Given the description of an element on the screen output the (x, y) to click on. 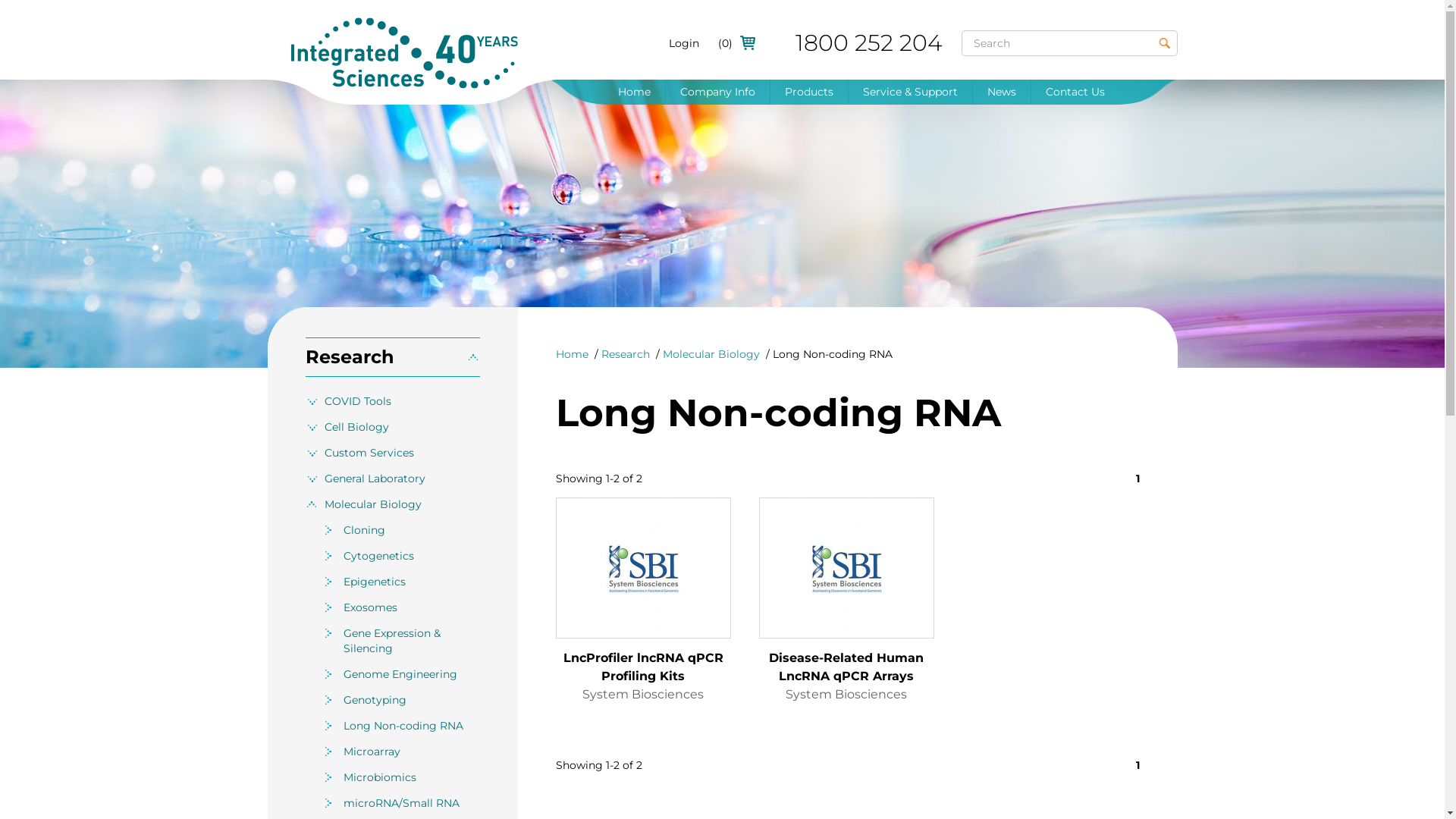
LncProfiler lncRNA qPCR Profiling Kits
System Biosciences Element type: text (642, 619)
Microarray Element type: text (410, 751)
Search Element type: text (1163, 43)
Service & Support Element type: text (909, 91)
microRNA/Small RNA Element type: text (410, 802)
Genome Engineering Element type: text (410, 674)
Epigenetics Element type: text (410, 581)
COVID Tools Element type: text (391, 401)
Long Non-coding RNA Element type: text (410, 725)
Exosomes Element type: text (410, 607)
Cell Biology Element type: text (391, 426)
Research Element type: text (624, 353)
Research Element type: text (391, 356)
Contact Us Element type: text (1075, 91)
Research Element type: text (391, 357)
Products Element type: text (808, 91)
Genotyping Element type: text (410, 699)
(0)  Element type: text (725, 43)
General Laboratory Element type: text (391, 478)
Company Info Element type: text (717, 91)
Disease-Related Human LncRNA qPCR Arrays
System Biosciences Element type: text (845, 619)
Home Element type: text (634, 91)
Cytogenetics Element type: text (410, 555)
Molecular Biology Element type: text (710, 353)
Molecular Biology Element type: text (391, 504)
Custom Services Element type: text (391, 452)
Login Element type: text (683, 43)
News Element type: text (1000, 91)
Microbiomics Element type: text (410, 777)
Home Element type: text (571, 353)
Gene Expression & Silencing Element type: text (410, 640)
Cloning Element type: text (410, 529)
